Given the description of an element on the screen output the (x, y) to click on. 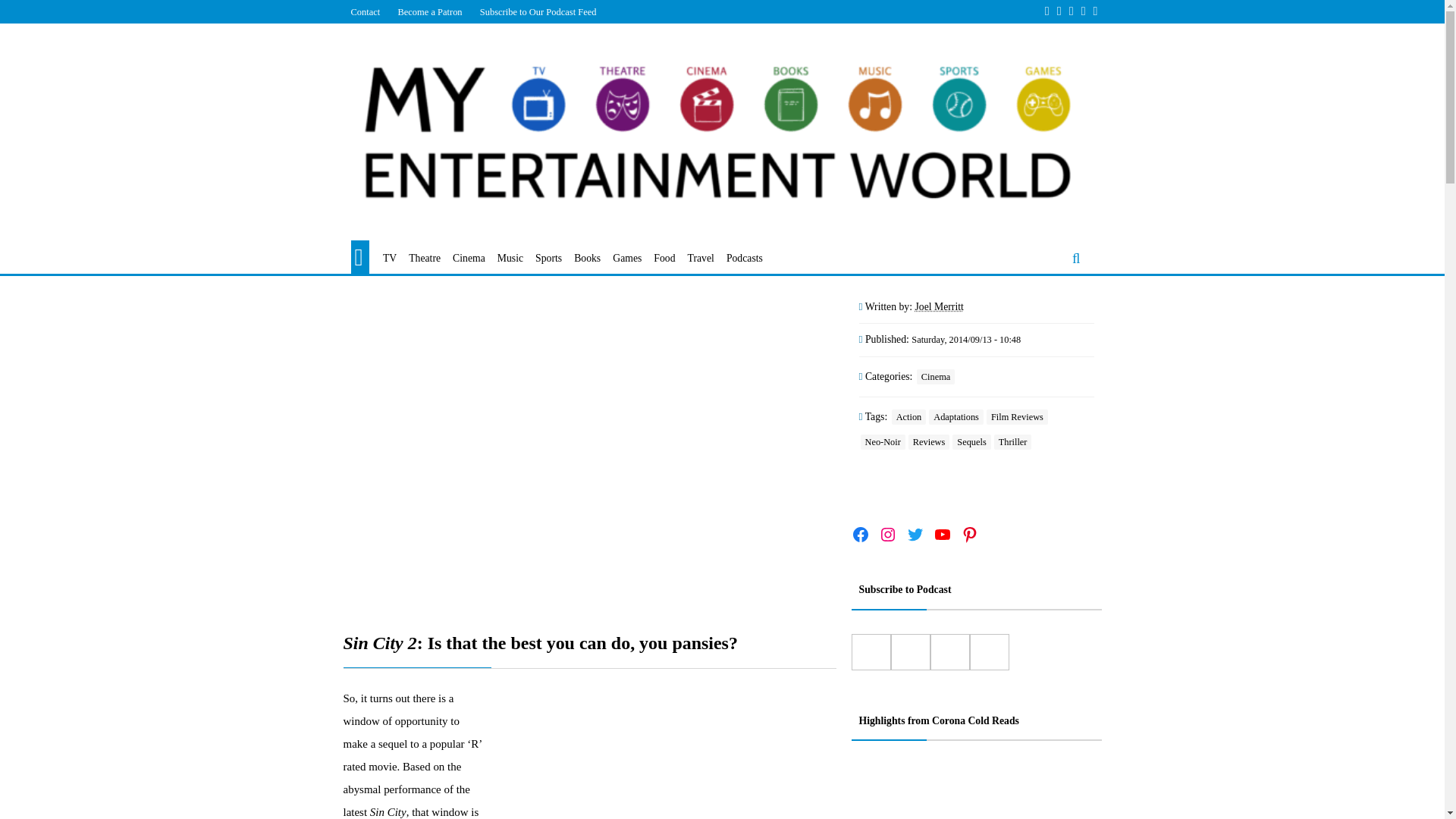
Film Reviews (1017, 417)
Subscribe on Android (909, 651)
Cinema (936, 376)
Reviews (929, 441)
Food (664, 258)
Subscribe on Apple Podcasts (869, 651)
Joel Merritt (938, 306)
Subscribe to Our Podcast Feed (537, 10)
Sports (548, 258)
Adaptations (956, 417)
